Given the description of an element on the screen output the (x, y) to click on. 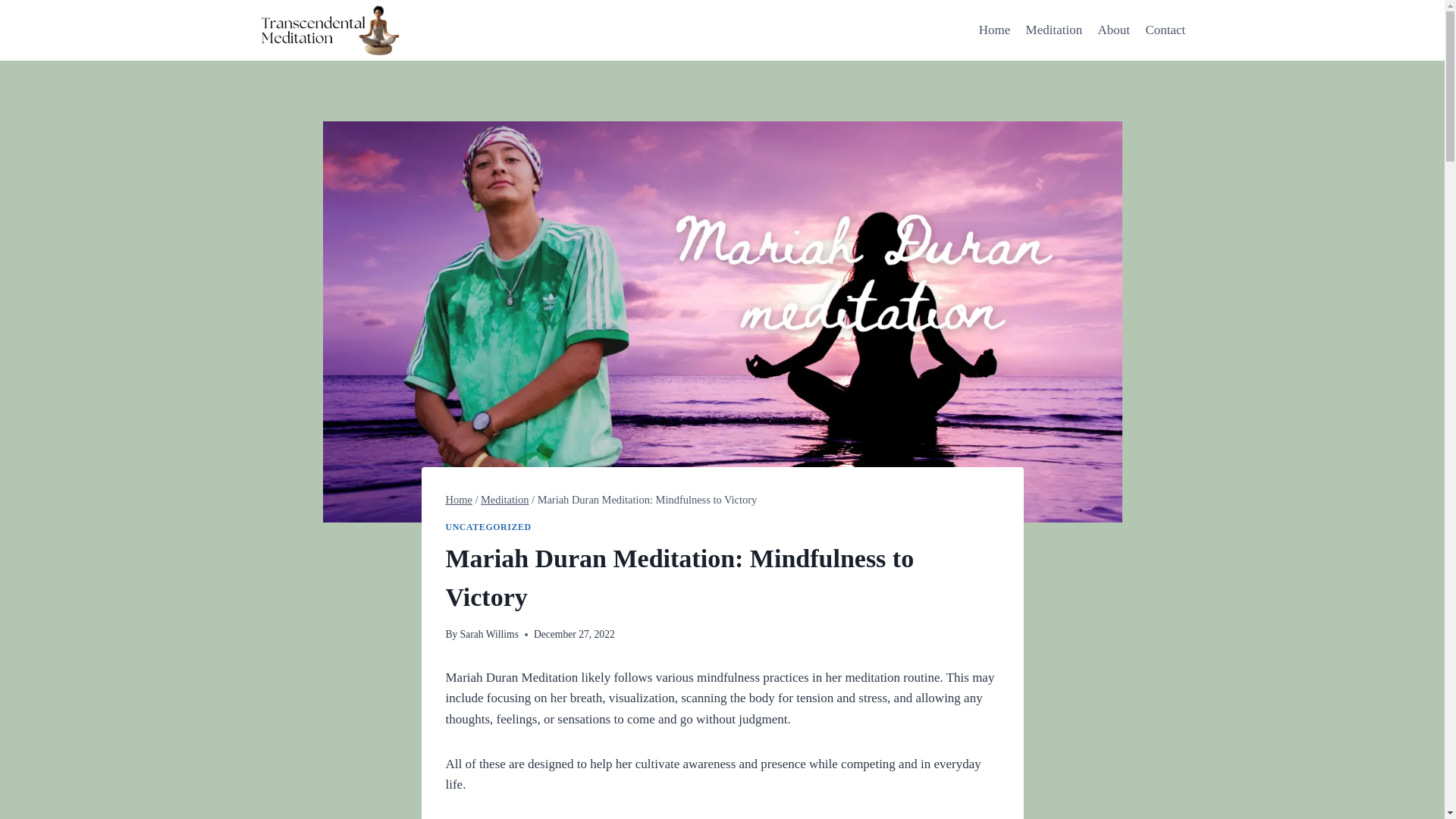
Meditation (1053, 30)
Home (994, 30)
Contact (1164, 30)
UNCATEGORIZED (488, 526)
About (1113, 30)
Home (458, 499)
Meditation (504, 499)
Sarah Willims (489, 633)
